Given the description of an element on the screen output the (x, y) to click on. 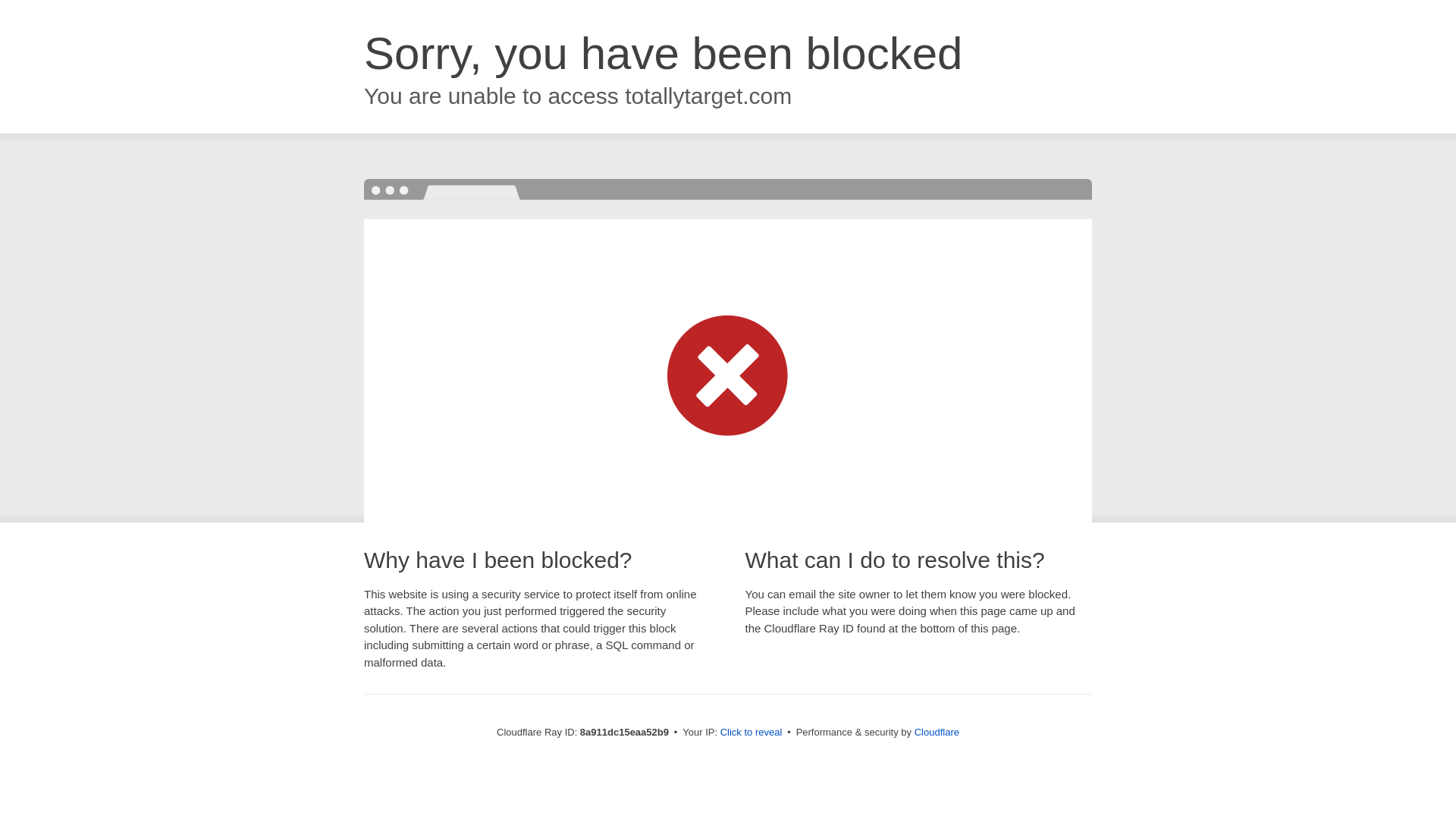
Cloudflare (936, 731)
Click to reveal (751, 732)
